Given the description of an element on the screen output the (x, y) to click on. 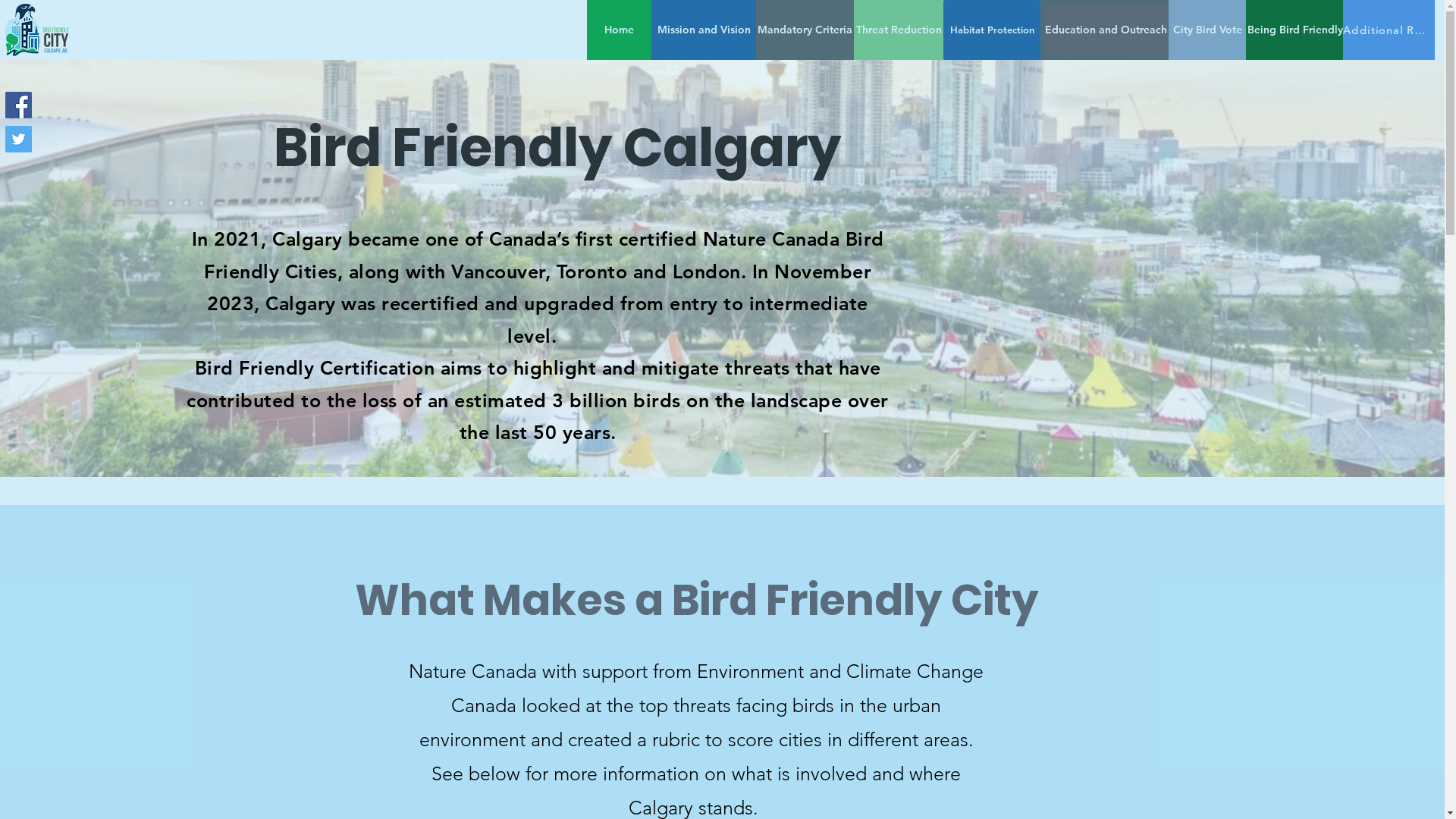
Home Element type: text (618, 29)
City Bird Vote Element type: text (1206, 29)
Mission and Vision Element type: text (703, 29)
Mandatory Criteria Element type: text (804, 29)
Additional Resources Element type: text (1388, 29)
Habitat Protection Element type: text (992, 29)
Education and Outreach Element type: text (1105, 29)
Being Bird Friendly Element type: text (1294, 29)
Threat Reduction Element type: text (898, 29)
